Given the description of an element on the screen output the (x, y) to click on. 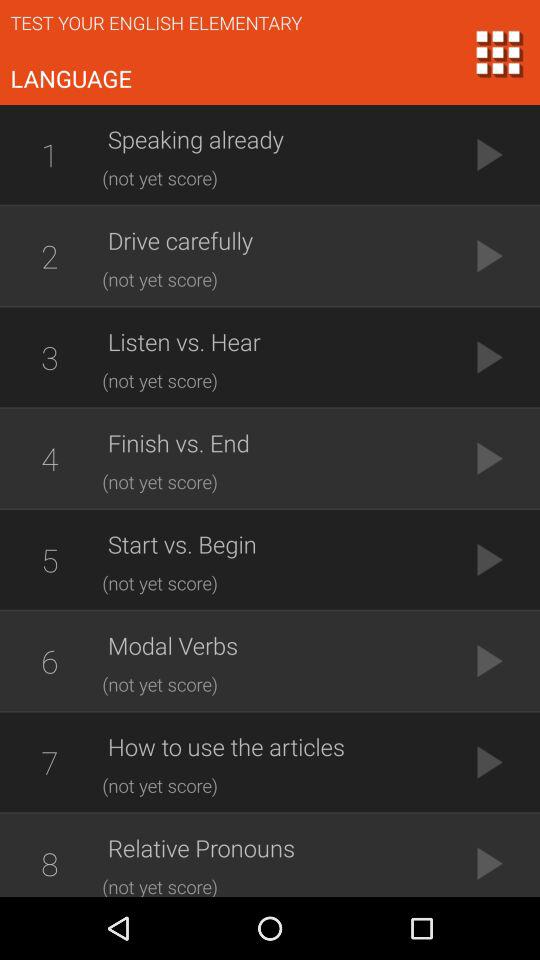
flip to speaking already icon (275, 139)
